Given the description of an element on the screen output the (x, y) to click on. 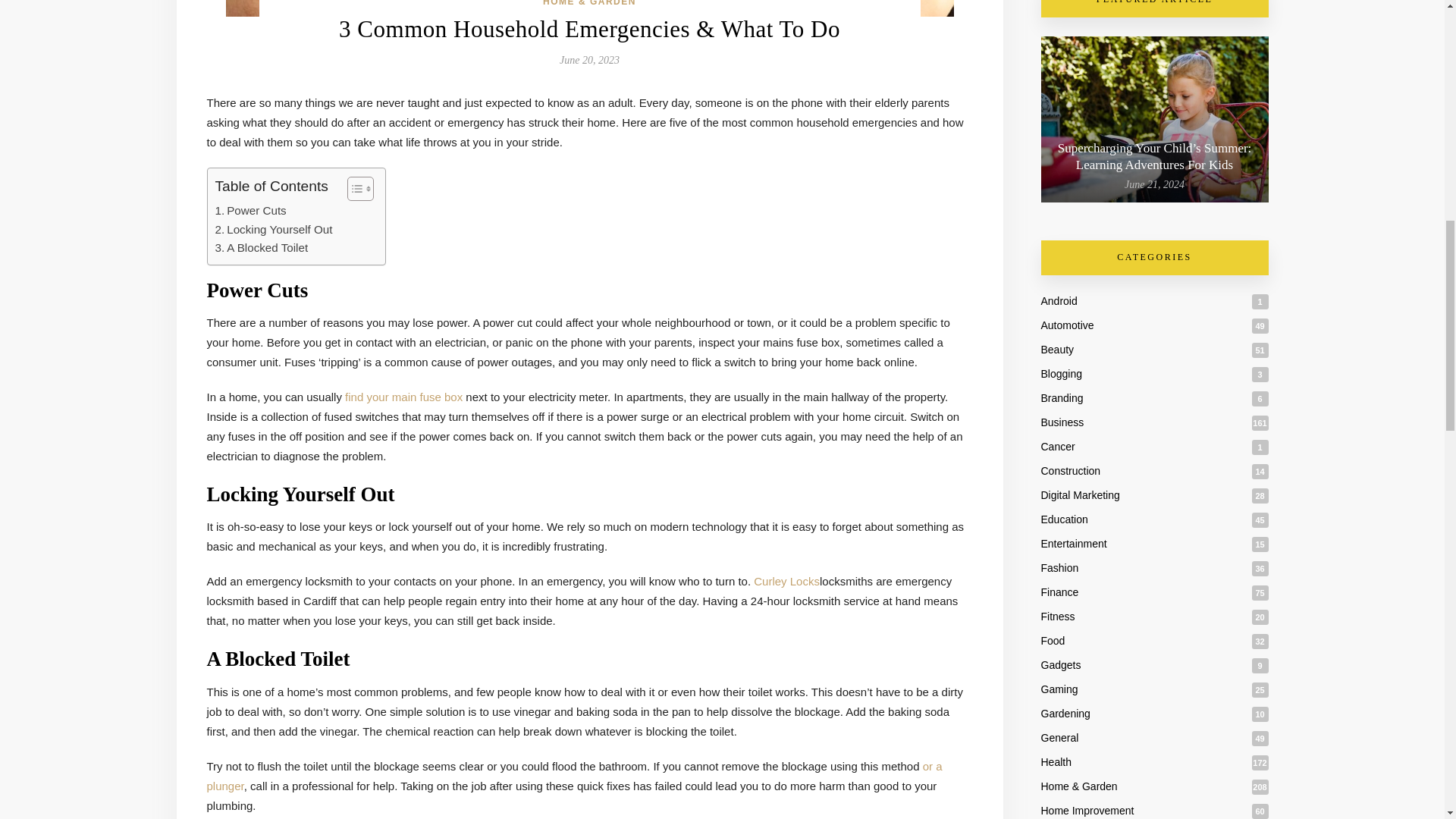
Locking Yourself Out (274, 229)
A Blocked Toilet (261, 248)
Power Cuts (250, 210)
